Given the description of an element on the screen output the (x, y) to click on. 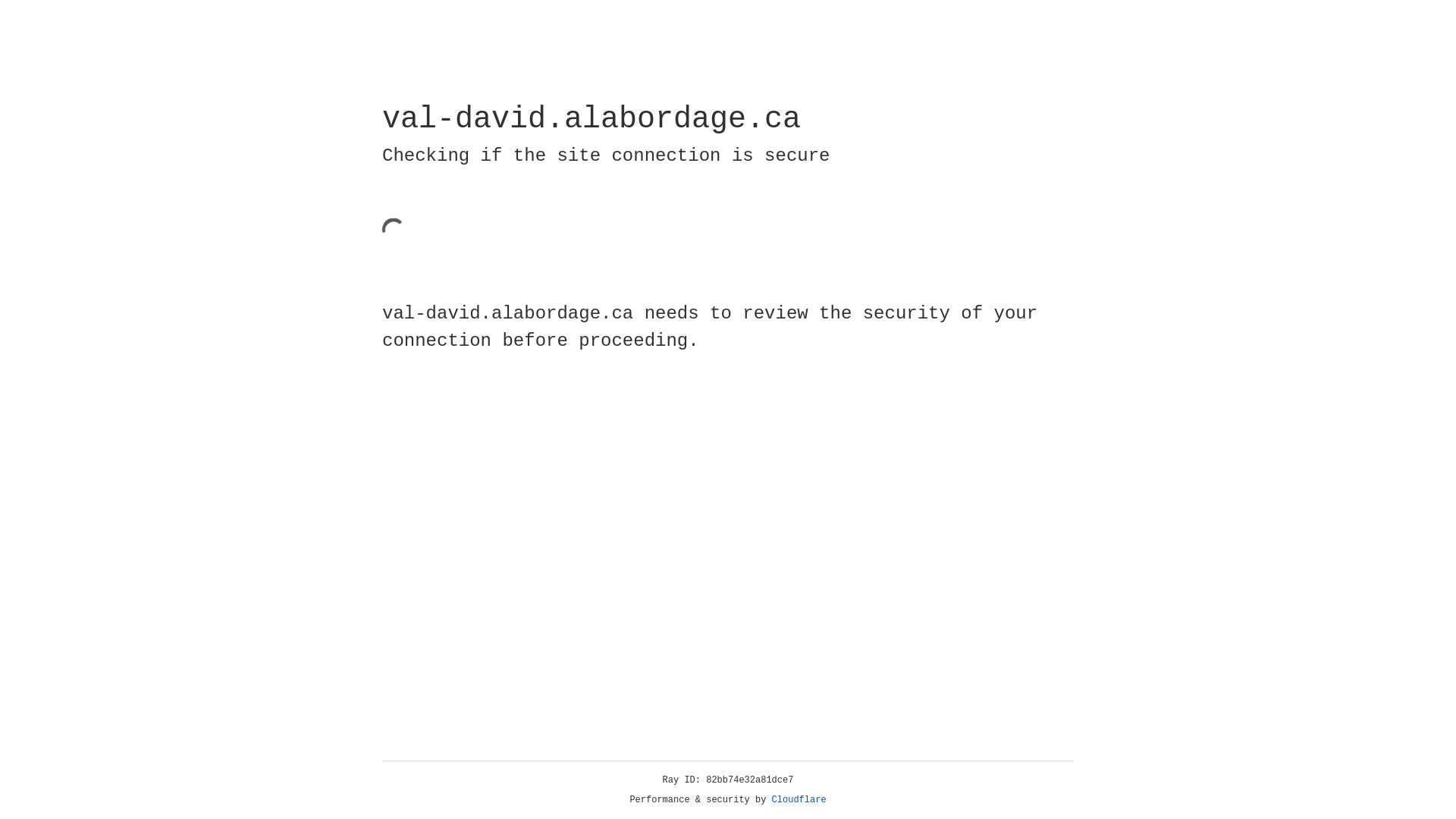
Cloudflare Element type: text (798, 799)
